Given the description of an element on the screen output the (x, y) to click on. 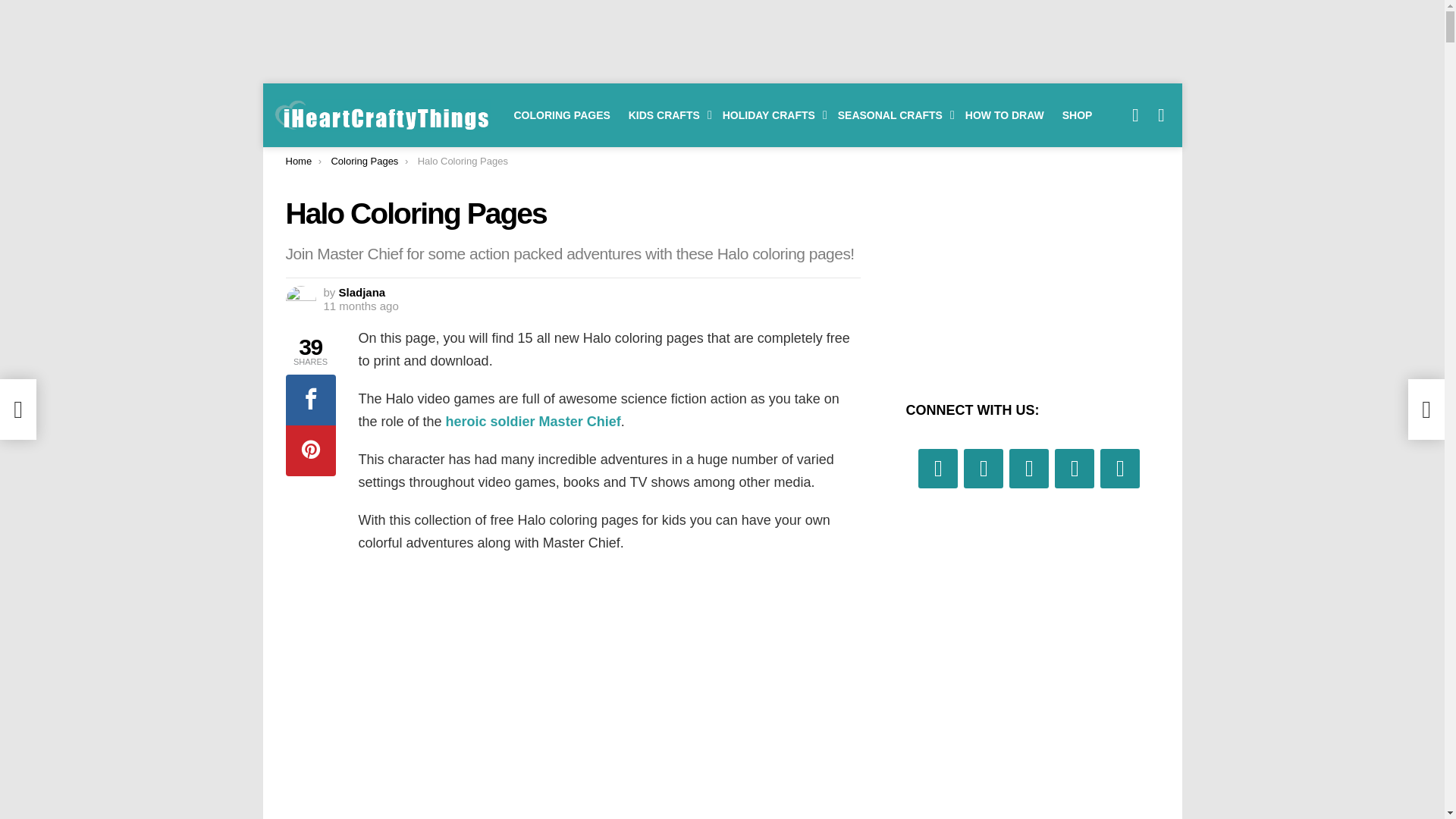
COLORING PAGES (561, 115)
HOW TO DRAW (1004, 115)
HOLIDAY CRAFTS (770, 115)
SHOP (1077, 115)
KIDS CRAFTS (666, 115)
SEASONAL CRAFTS (892, 115)
Posts by Sladjana (362, 291)
September 14, 2023, 3:03 AM (360, 305)
